Given the description of an element on the screen output the (x, y) to click on. 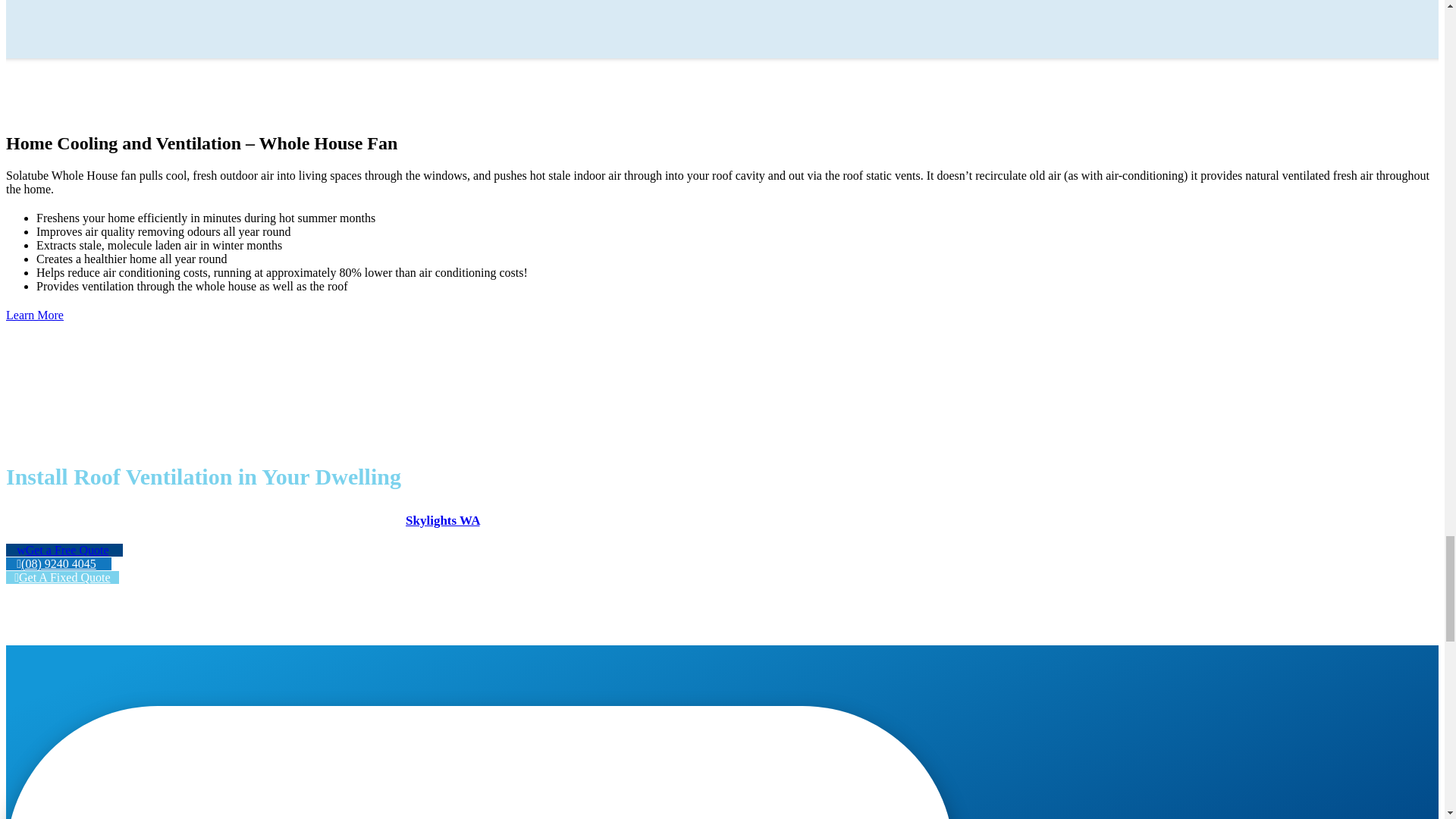
Home (442, 520)
